Given the description of an element on the screen output the (x, y) to click on. 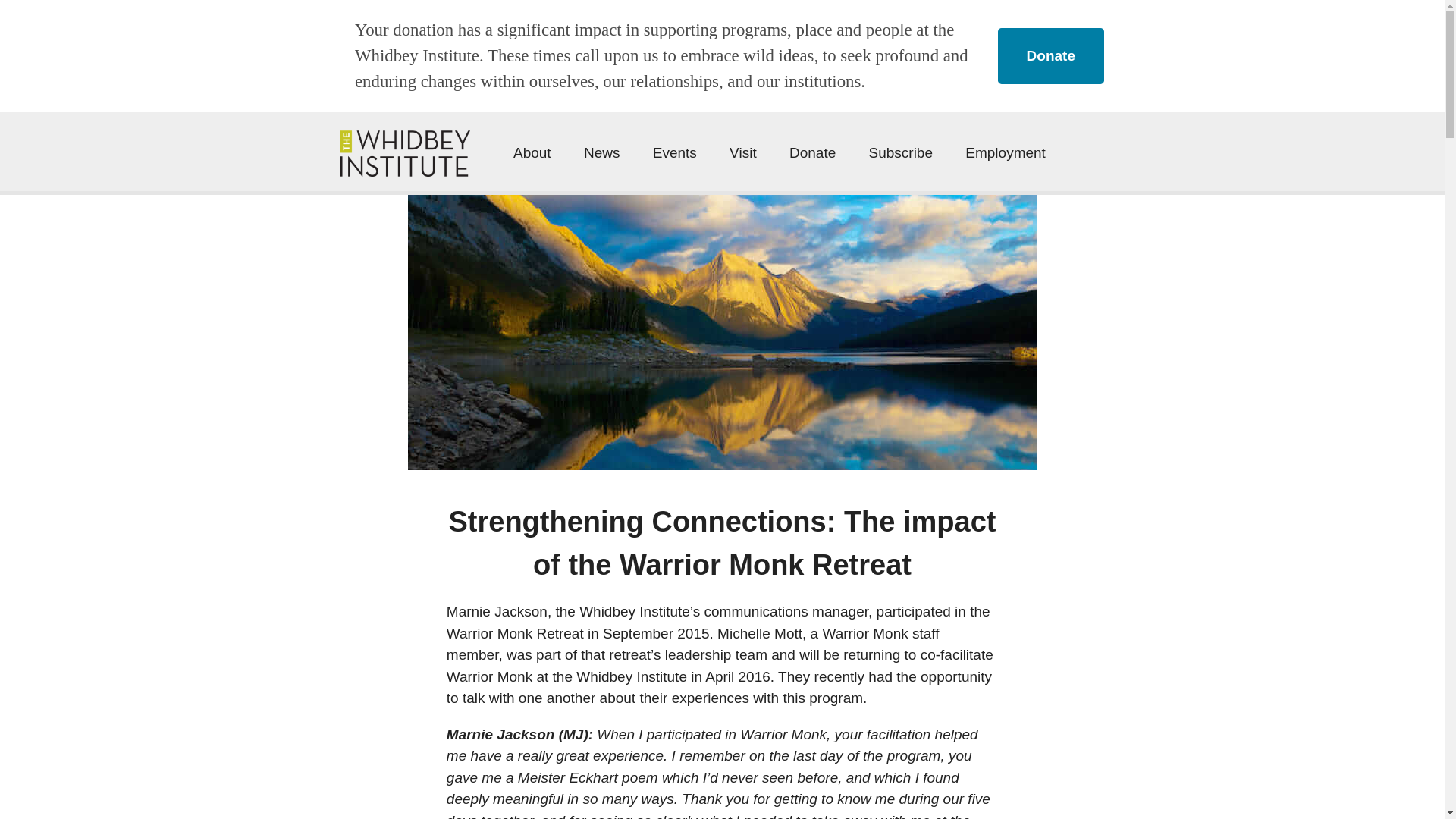
Employment (1005, 153)
Events (674, 153)
Donate (1050, 55)
Donate (812, 153)
Subscribe (901, 153)
